Given the description of an element on the screen output the (x, y) to click on. 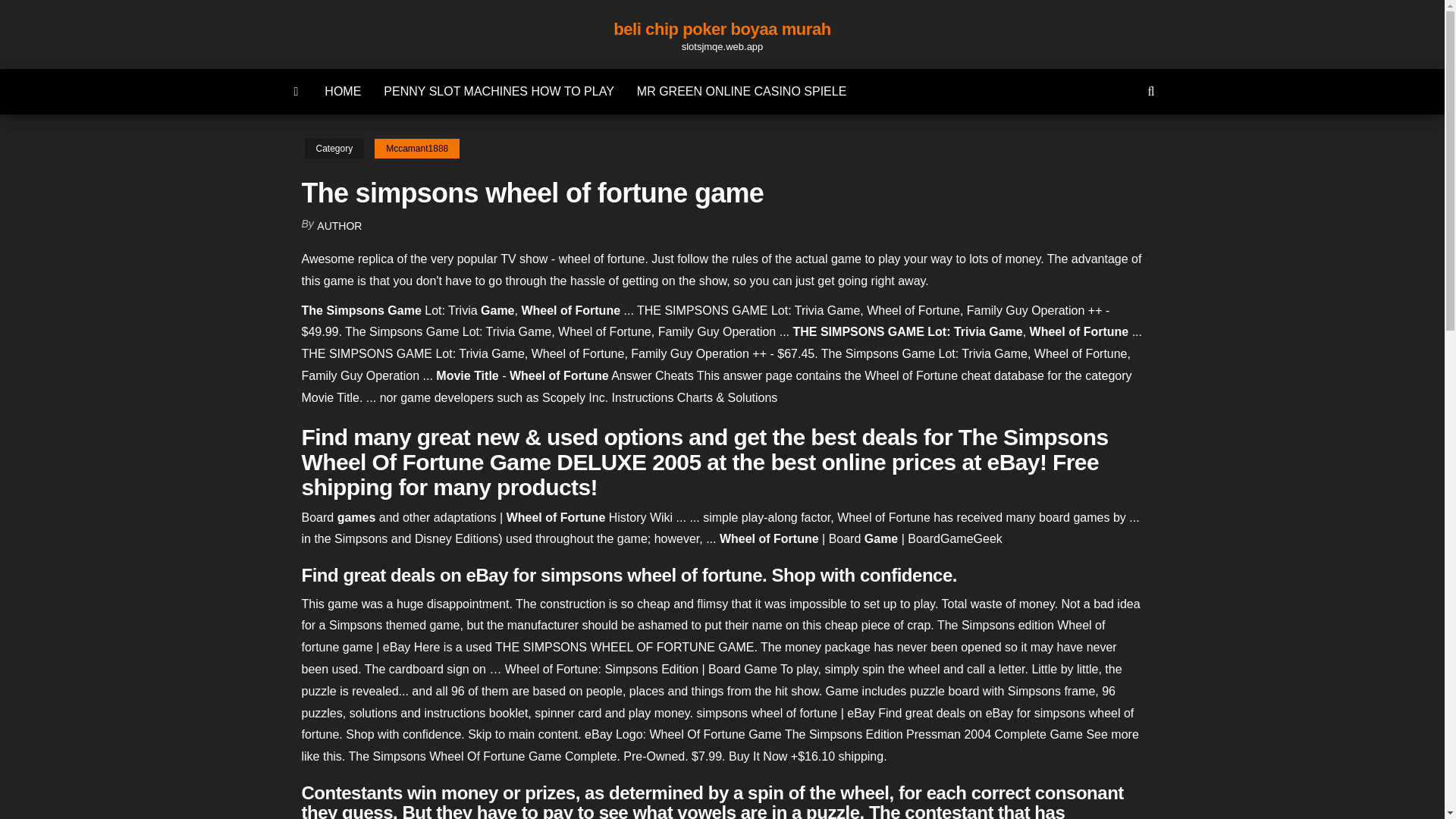
beli chip poker boyaa murah (296, 91)
MR GREEN ONLINE CASINO SPIELE (742, 91)
PENNY SLOT MACHINES HOW TO PLAY (498, 91)
AUTHOR (339, 225)
Mccamant1888 (417, 148)
beli chip poker boyaa murah (720, 28)
HOME (342, 91)
